Given the description of an element on the screen output the (x, y) to click on. 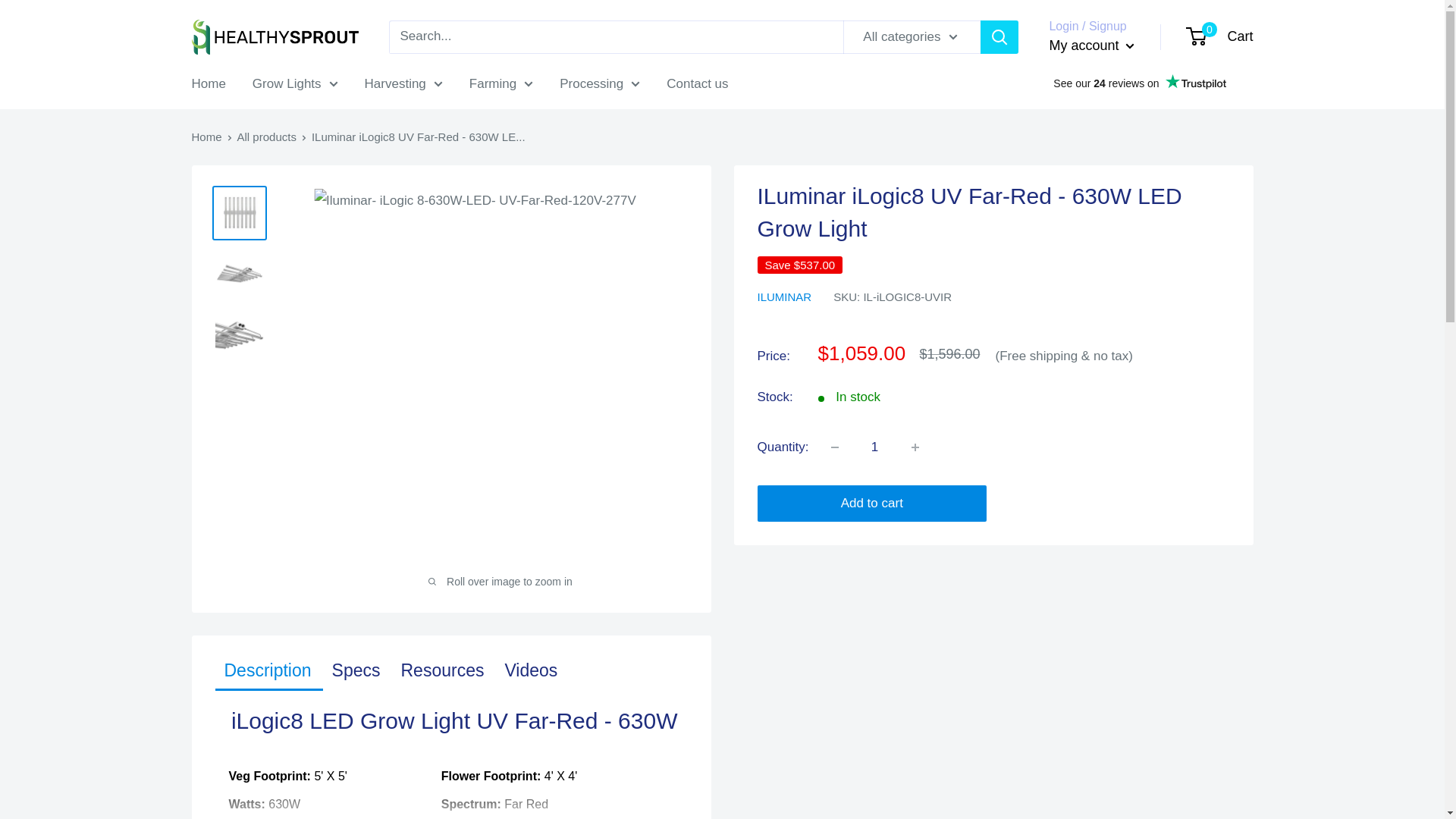
Customer reviews powered by Trustpilot (1138, 83)
Increase quantity by 1 (915, 447)
Decrease quantity by 1 (834, 447)
1 (874, 447)
